Given the description of an element on the screen output the (x, y) to click on. 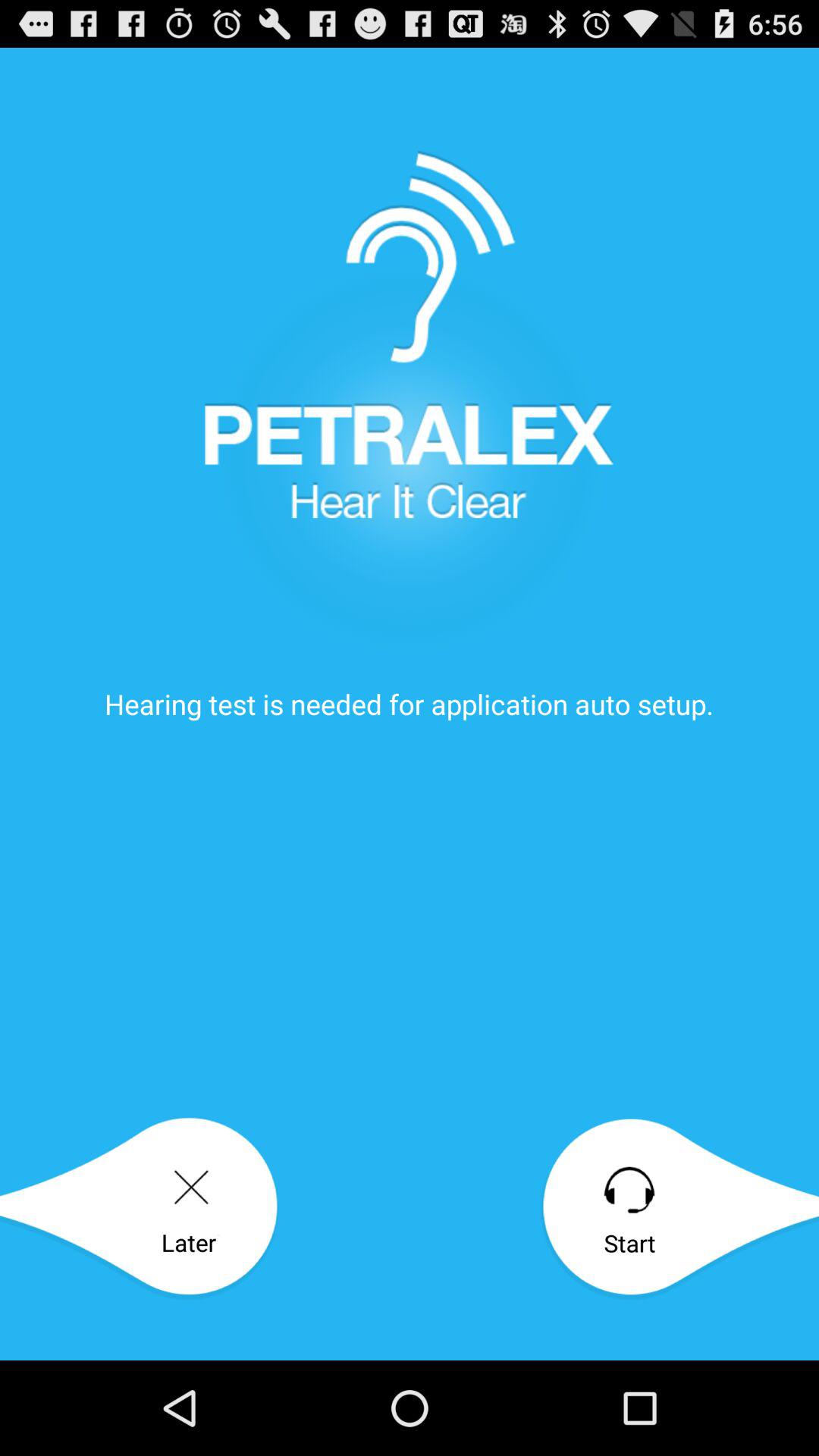
click the icon to the left of start icon (139, 1208)
